Given the description of an element on the screen output the (x, y) to click on. 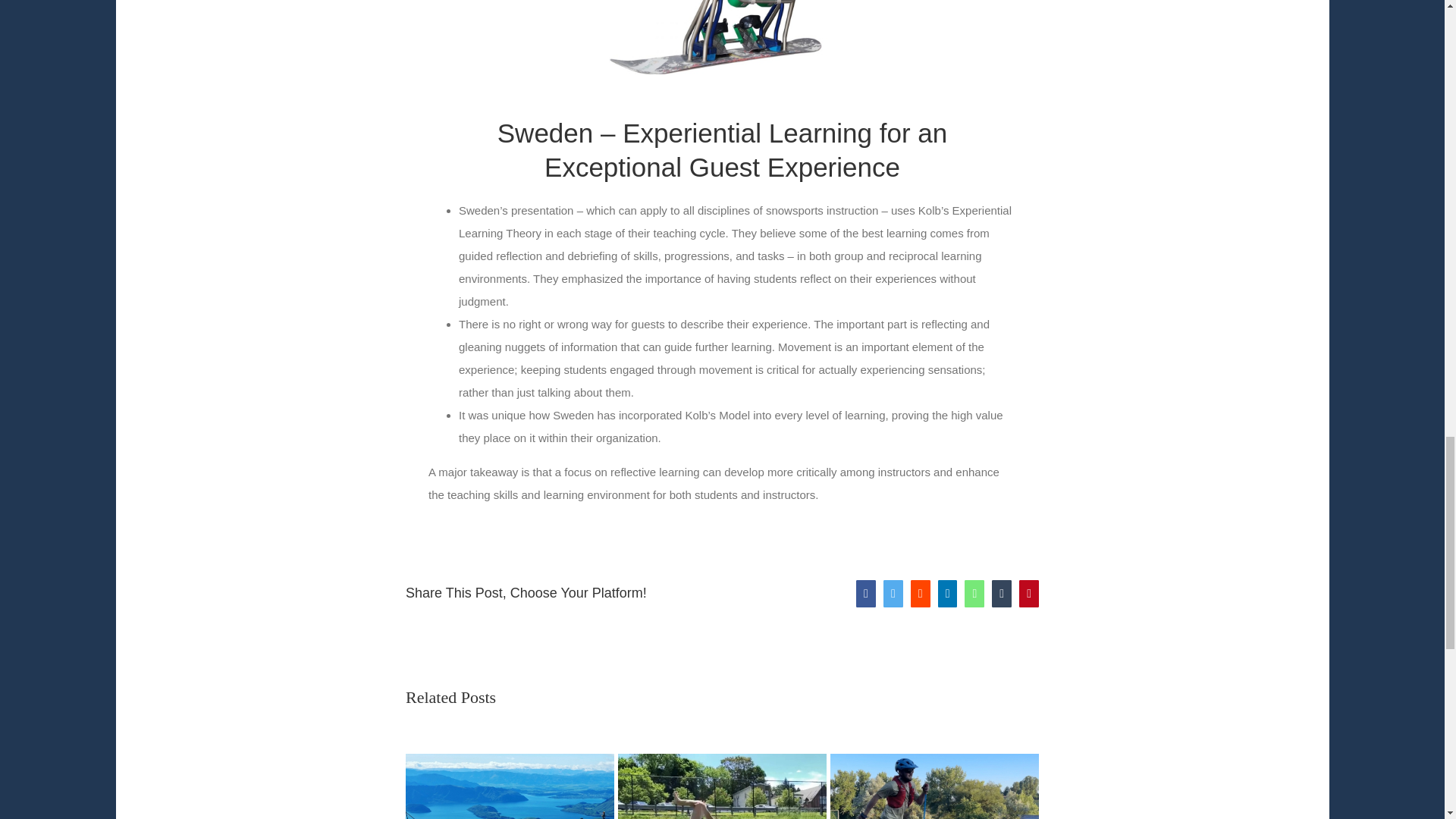
Twin Rider Adaptive Snowboard (721, 37)
